Given the description of an element on the screen output the (x, y) to click on. 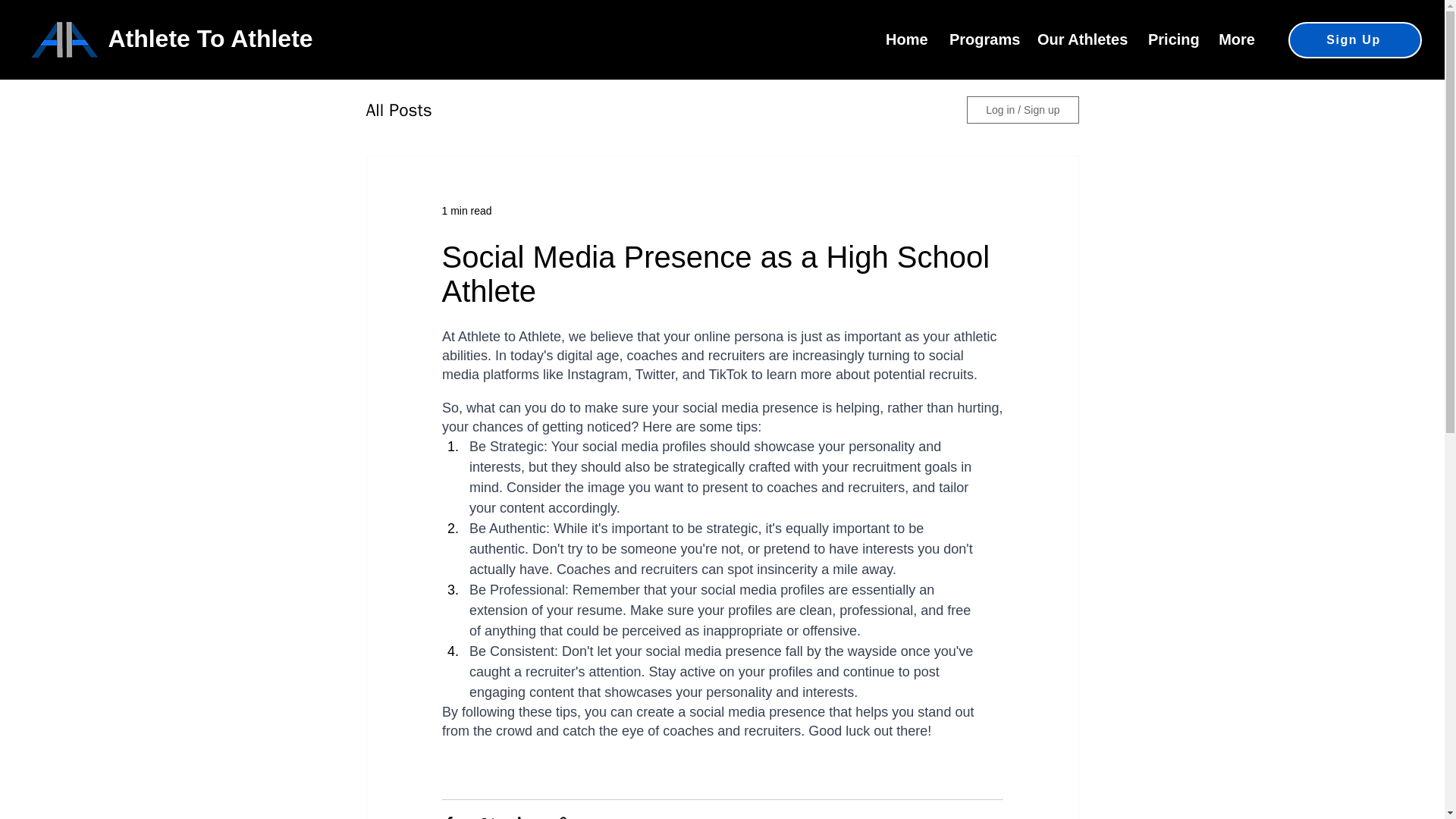
1 min read (466, 210)
Programs (981, 39)
Home (906, 39)
Sign Up (1355, 40)
All Posts (397, 110)
Pricing (1172, 39)
Our Athletes (1081, 39)
